Given the description of an element on the screen output the (x, y) to click on. 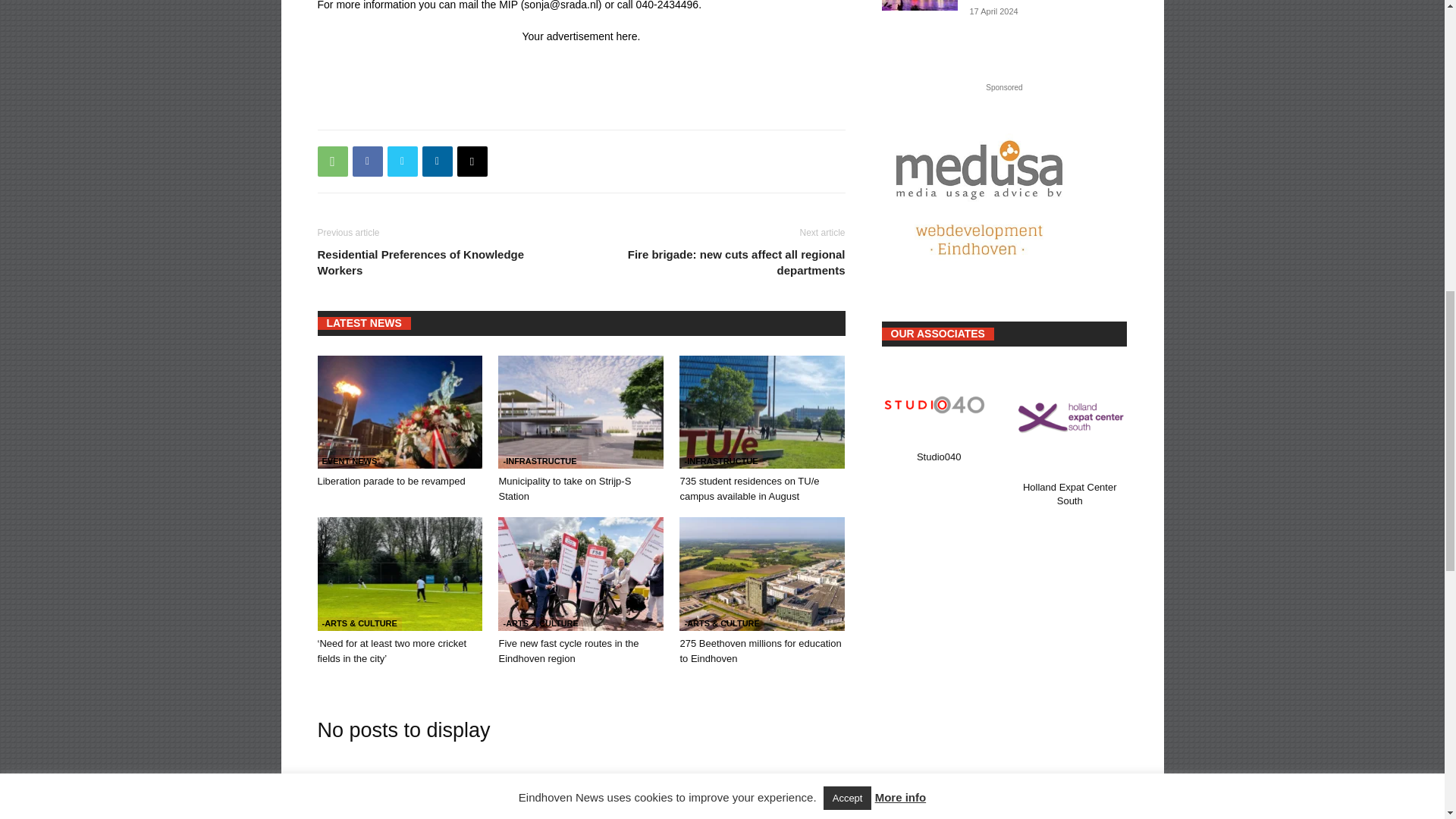
WhatsApp (332, 160)
Advertisement (593, 78)
Twitter (401, 160)
Linkedin (436, 160)
Facebook (366, 160)
